Given the description of an element on the screen output the (x, y) to click on. 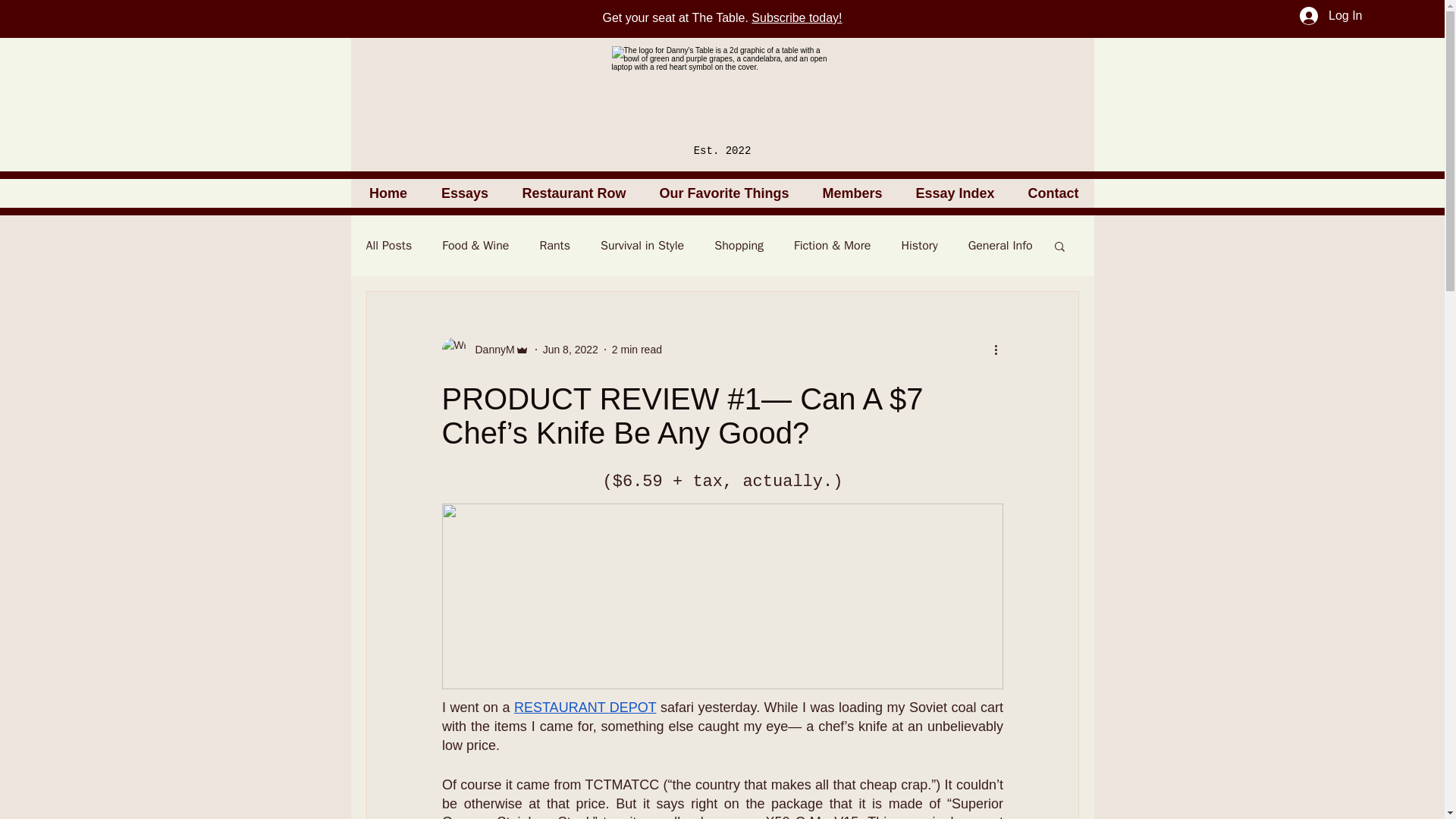
Essays (465, 193)
Members (851, 193)
2 min read (636, 348)
DannyM (489, 349)
All Posts (388, 245)
Subscribe today! (796, 17)
Survival in Style (641, 245)
General Info (1000, 245)
Log In (1330, 15)
RESTAURANT DEPOT (584, 707)
